Given the description of an element on the screen output the (x, y) to click on. 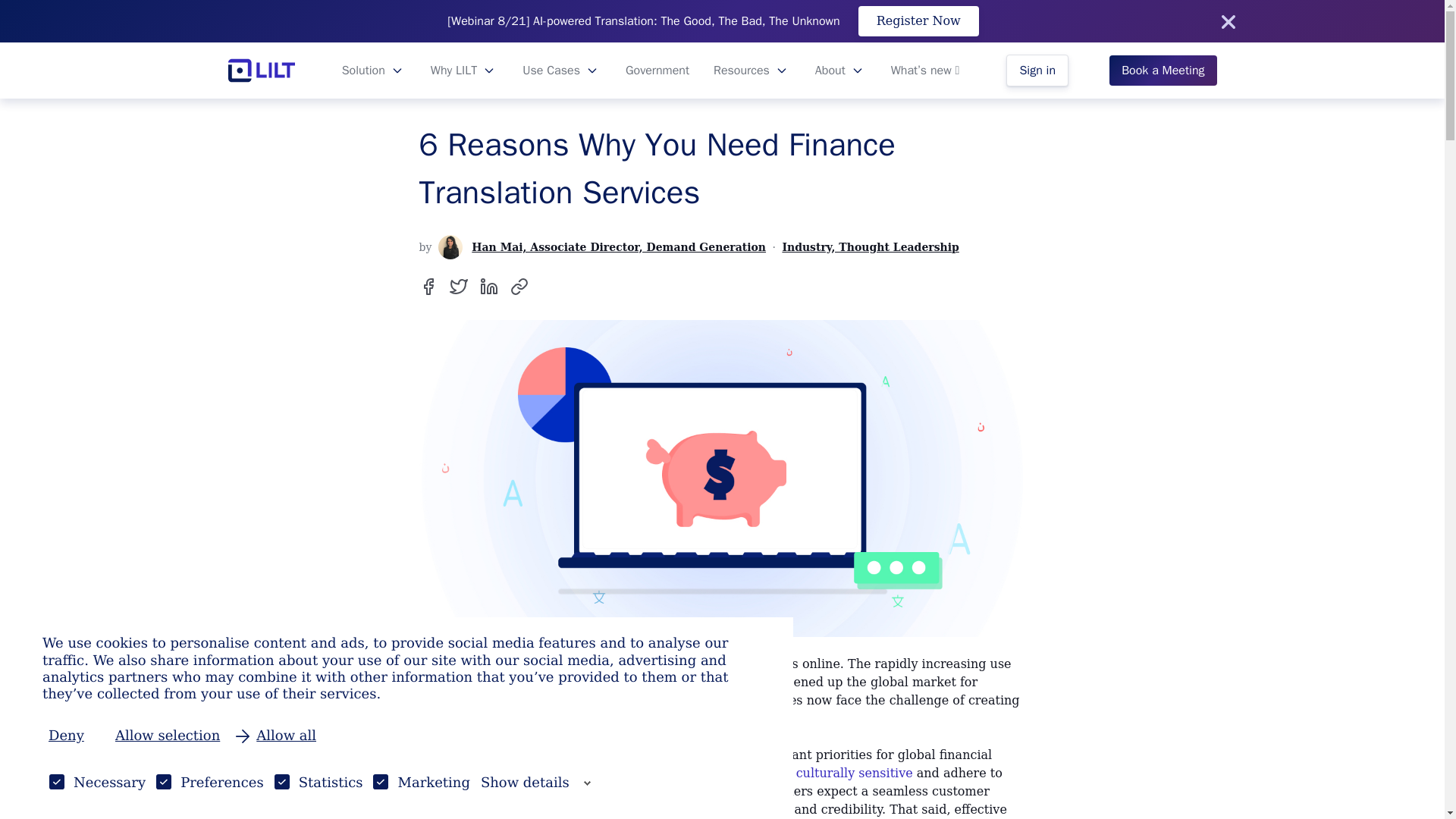
Allow all (276, 736)
Allow selection (167, 736)
Deny (72, 736)
Show details (535, 782)
